Given the description of an element on the screen output the (x, y) to click on. 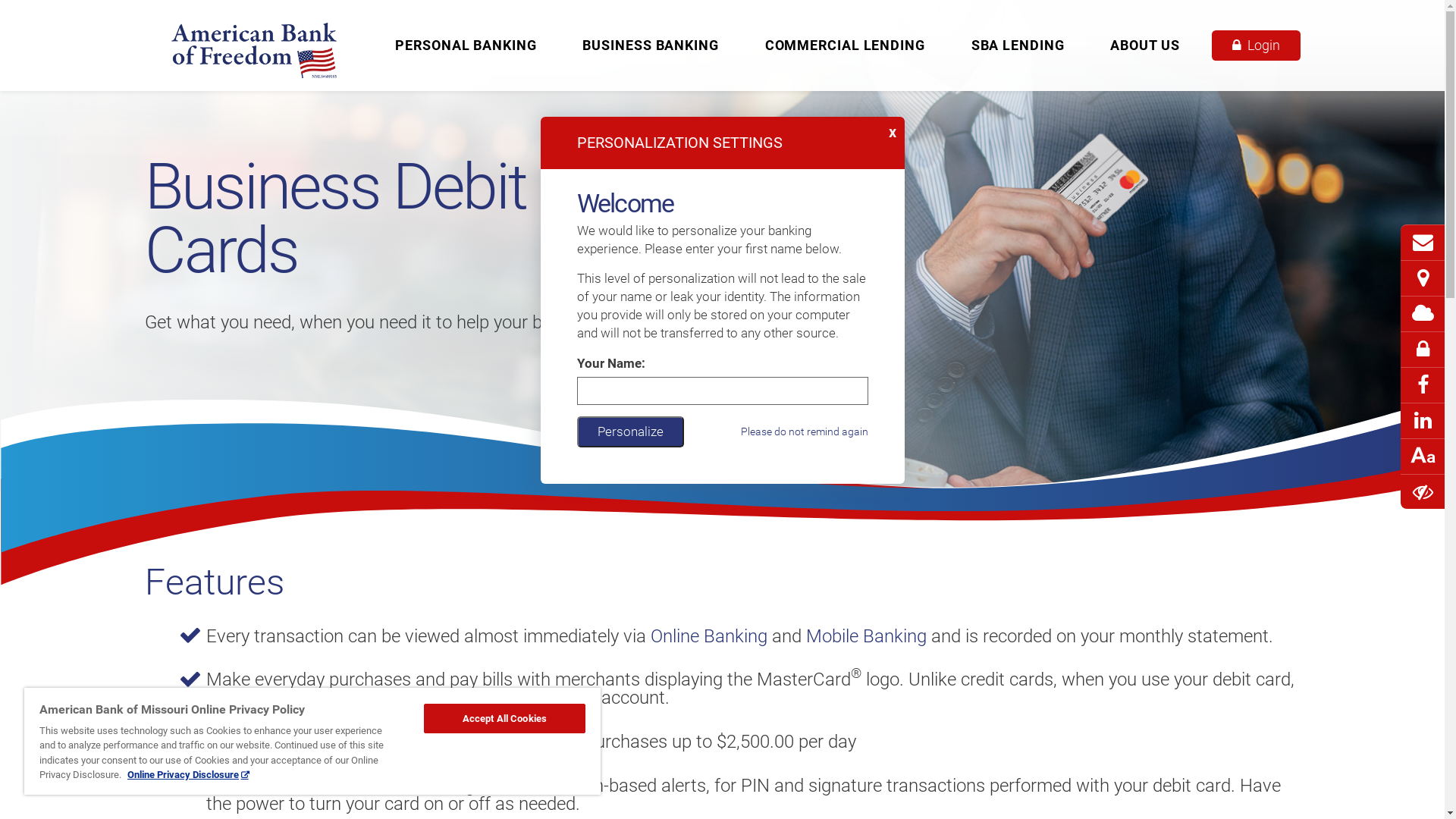
Contacts Us Element type: text (1422, 242)
Accept All Cookies Element type: text (504, 718)
Online Privacy Disclosure Element type: text (187, 774)
Please do not remind again Element type: text (803, 431)
x Element type: text (894, 127)
Accessibility Mode Element type: text (1422, 492)
Online Banking Element type: text (708, 635)
Login Element type: text (1255, 45)
Facebook Element type: text (1422, 392)
Mobile Banking Element type: text (866, 635)
Personalize Element type: text (629, 430)
LinkedIn Element type: text (1422, 428)
Secure File Transfer Element type: text (1422, 357)
Locations Element type: text (1422, 278)
